Given the description of an element on the screen output the (x, y) to click on. 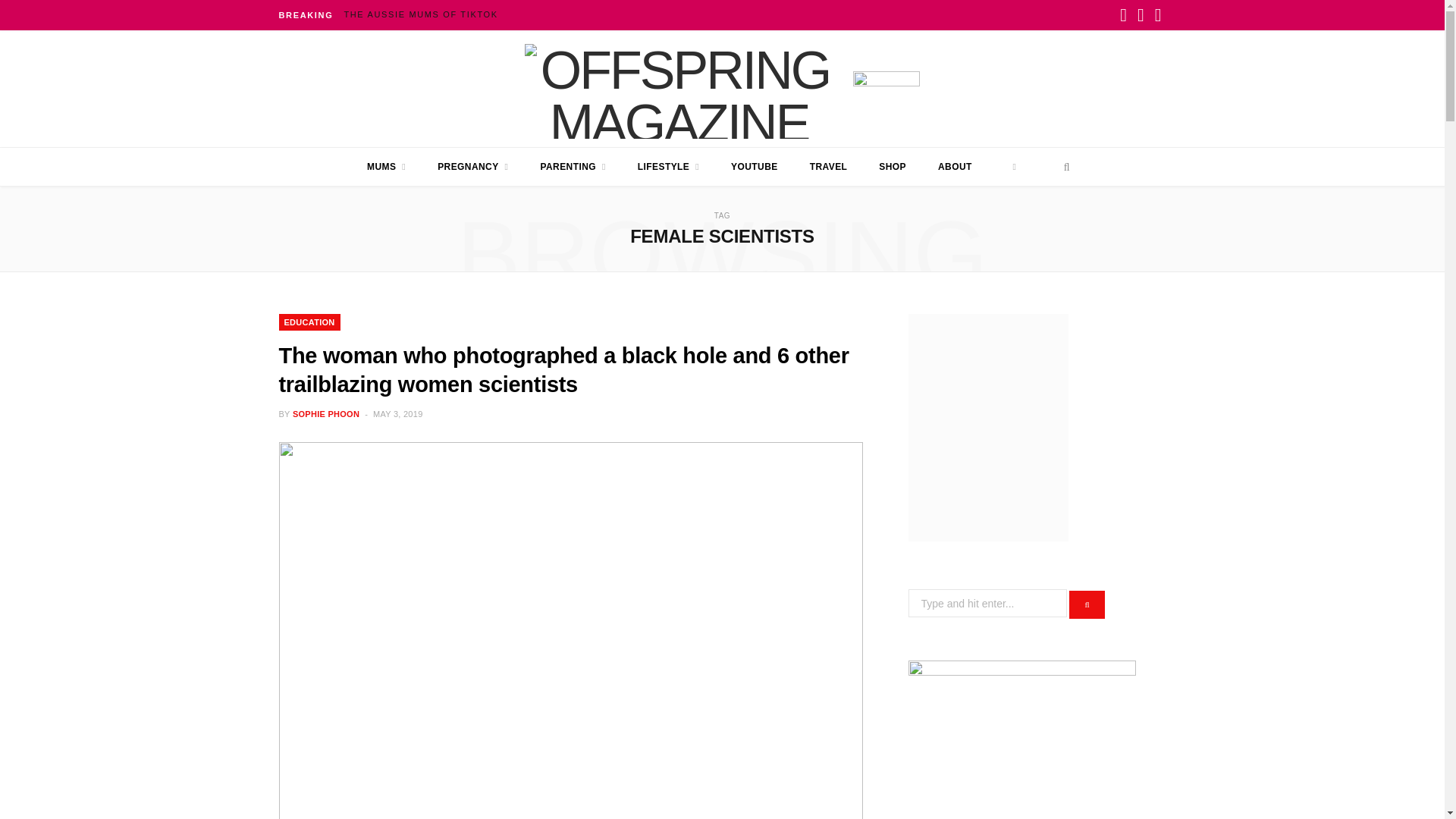
The Aussie Mums of Tiktok (424, 14)
LIFESTYLE (667, 166)
YOUTUBE (753, 166)
MUMS (386, 166)
PREGNANCY (473, 166)
PARENTING (572, 166)
THE AUSSIE MUMS OF TIKTOK (424, 14)
ABOUT (954, 166)
TRAVEL (828, 166)
